Given the description of an element on the screen output the (x, y) to click on. 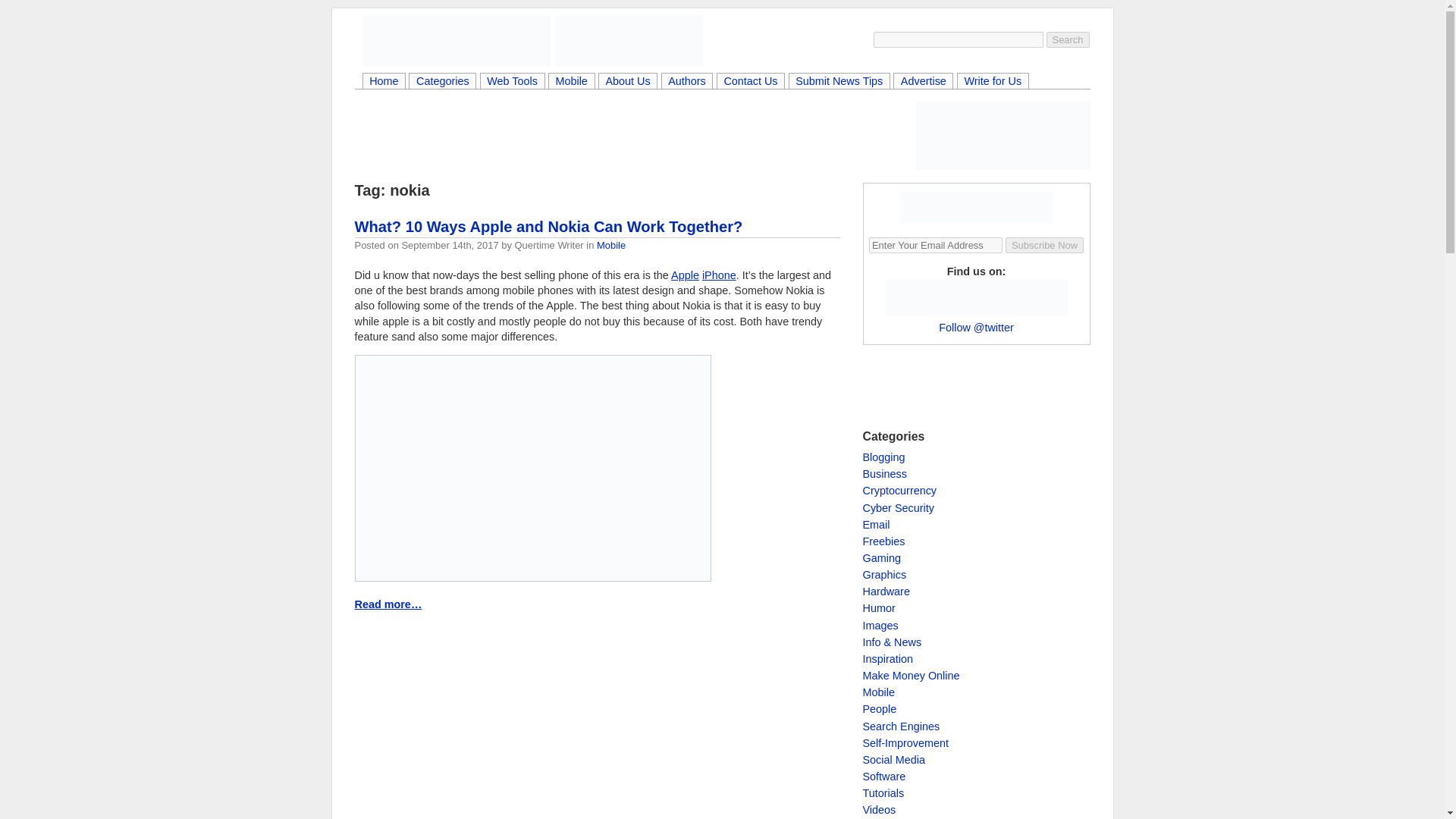
Email (876, 524)
Mobile (571, 82)
Gaming (882, 558)
About Us (627, 82)
Images (880, 625)
Get daily articles for free. (976, 206)
Graphics (885, 574)
Categories (442, 82)
Submit News Tips (838, 82)
Search (1067, 39)
